Given the description of an element on the screen output the (x, y) to click on. 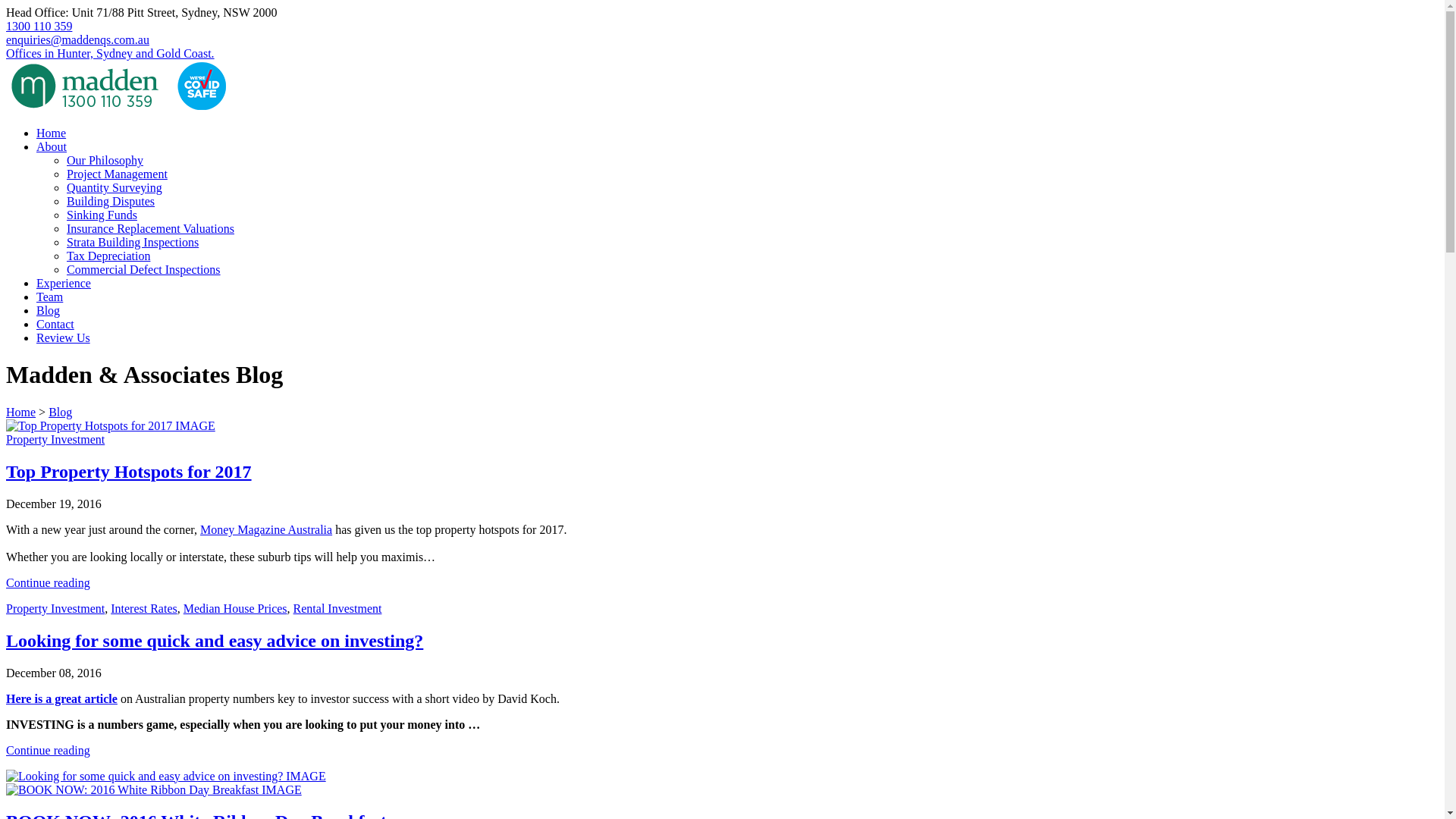
Quantity Surveying Element type: text (114, 187)
Madden and Associates Element type: hover (117, 106)
Blog Element type: text (47, 310)
Interest Rates Element type: text (143, 608)
Continue reading Element type: text (48, 582)
Sinking Funds Element type: text (101, 214)
Here is a great article Element type: text (61, 697)
Top Property Hotspots for 2017 Element type: text (128, 471)
Home Element type: text (50, 132)
Home Element type: text (20, 411)
Tax Depreciation Element type: text (108, 255)
Insurance Replacement Valuations Element type: text (150, 228)
Property Investment Element type: text (55, 439)
1300 110 359 Element type: text (39, 25)
Money Magazine Australia Element type: text (266, 529)
Experience Element type: text (63, 282)
Looking for some quick and easy advice on investing? Element type: text (214, 640)
Project Management Element type: text (116, 173)
Team Element type: text (49, 296)
Offices in Hunter, Sydney and Gold Coast. Element type: text (110, 53)
Median House Prices Element type: text (235, 608)
Strata Building Inspections Element type: text (132, 241)
Review Us Element type: text (63, 337)
Commercial Defect Inspections Element type: text (143, 269)
Continue reading Element type: text (48, 749)
Contact Element type: text (55, 323)
enquiries@maddenqs.com.au Element type: text (77, 39)
Our Philosophy Element type: text (104, 159)
Property Investment Element type: text (55, 608)
About Element type: text (51, 146)
Building Disputes Element type: text (110, 200)
Blog Element type: text (60, 411)
Rental Investment Element type: text (337, 608)
